Given the description of an element on the screen output the (x, y) to click on. 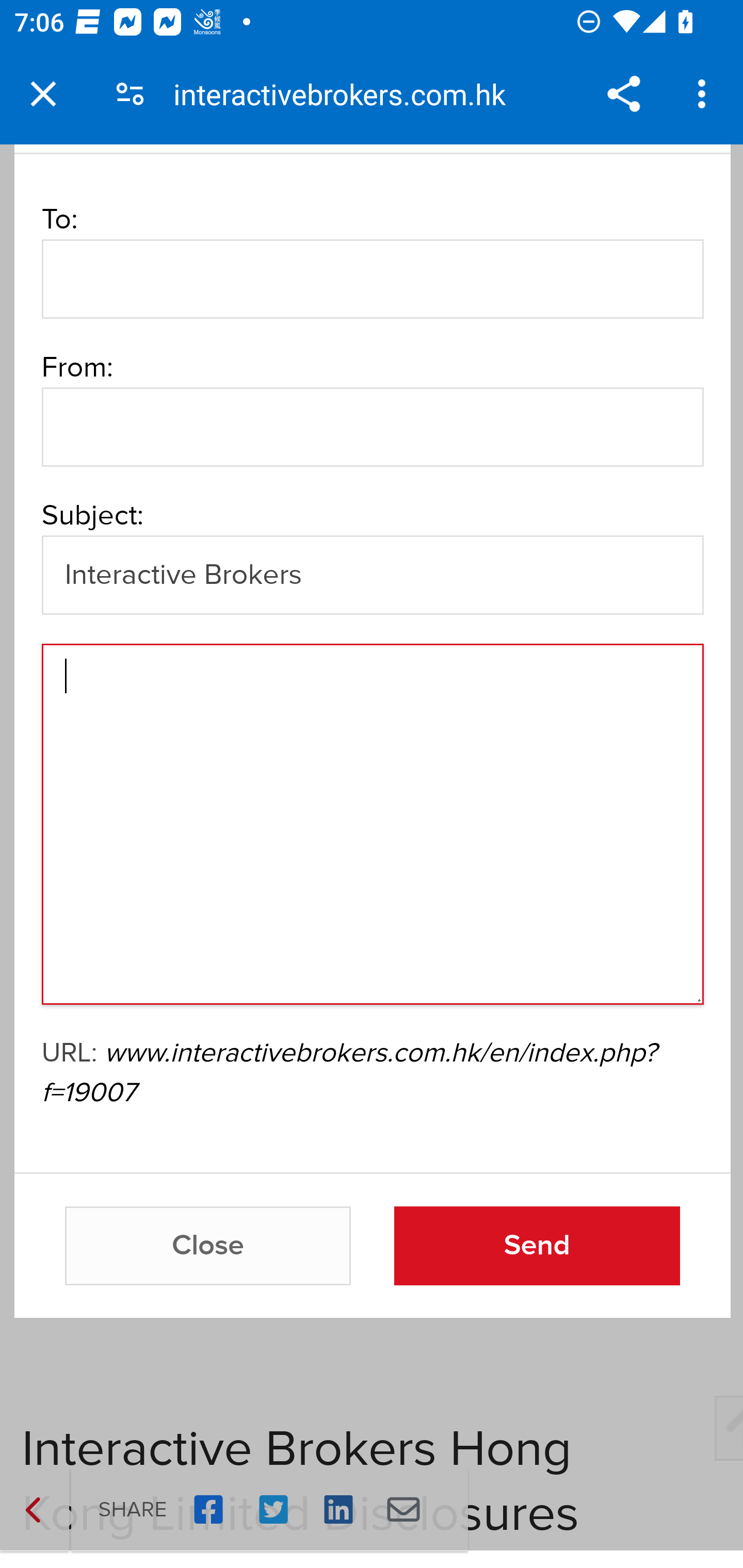
Close tab (43, 93)
Share (623, 93)
Customize and control Google Chrome (705, 93)
Connection is secure (129, 93)
interactivebrokers.com.hk (346, 93)
Interactive Brokers (371, 574)
Close (208, 1246)
Send (536, 1246)
